Given the description of an element on the screen output the (x, y) to click on. 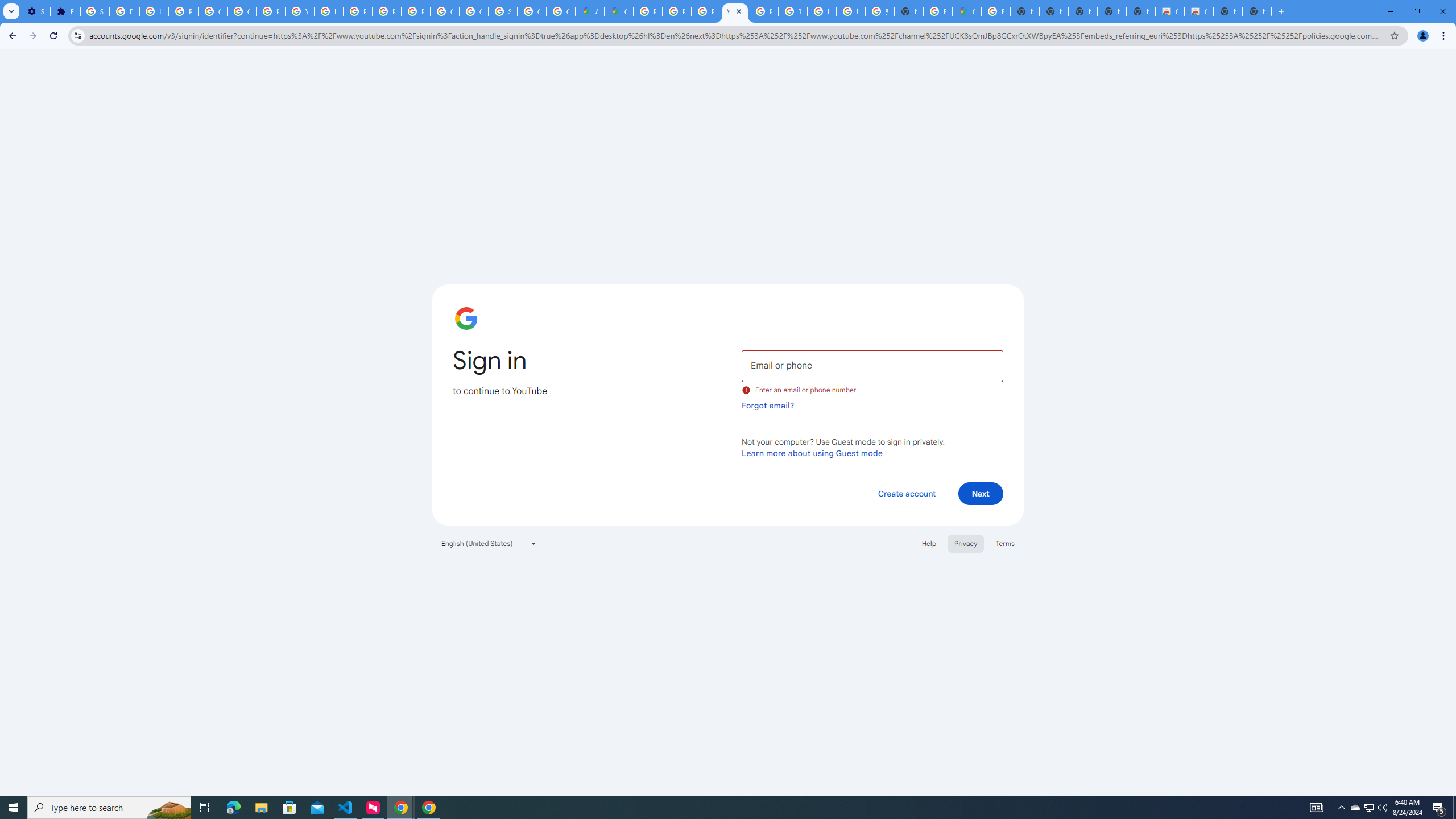
New Tab (1256, 11)
Learn more about using Guest mode (812, 452)
Policy Accountability and Transparency - Transparency Center (648, 11)
English (United States) (489, 542)
Email or phone (871, 365)
Forgot email? (767, 404)
Classic Blue - Chrome Web Store (1198, 11)
